Given the description of an element on the screen output the (x, y) to click on. 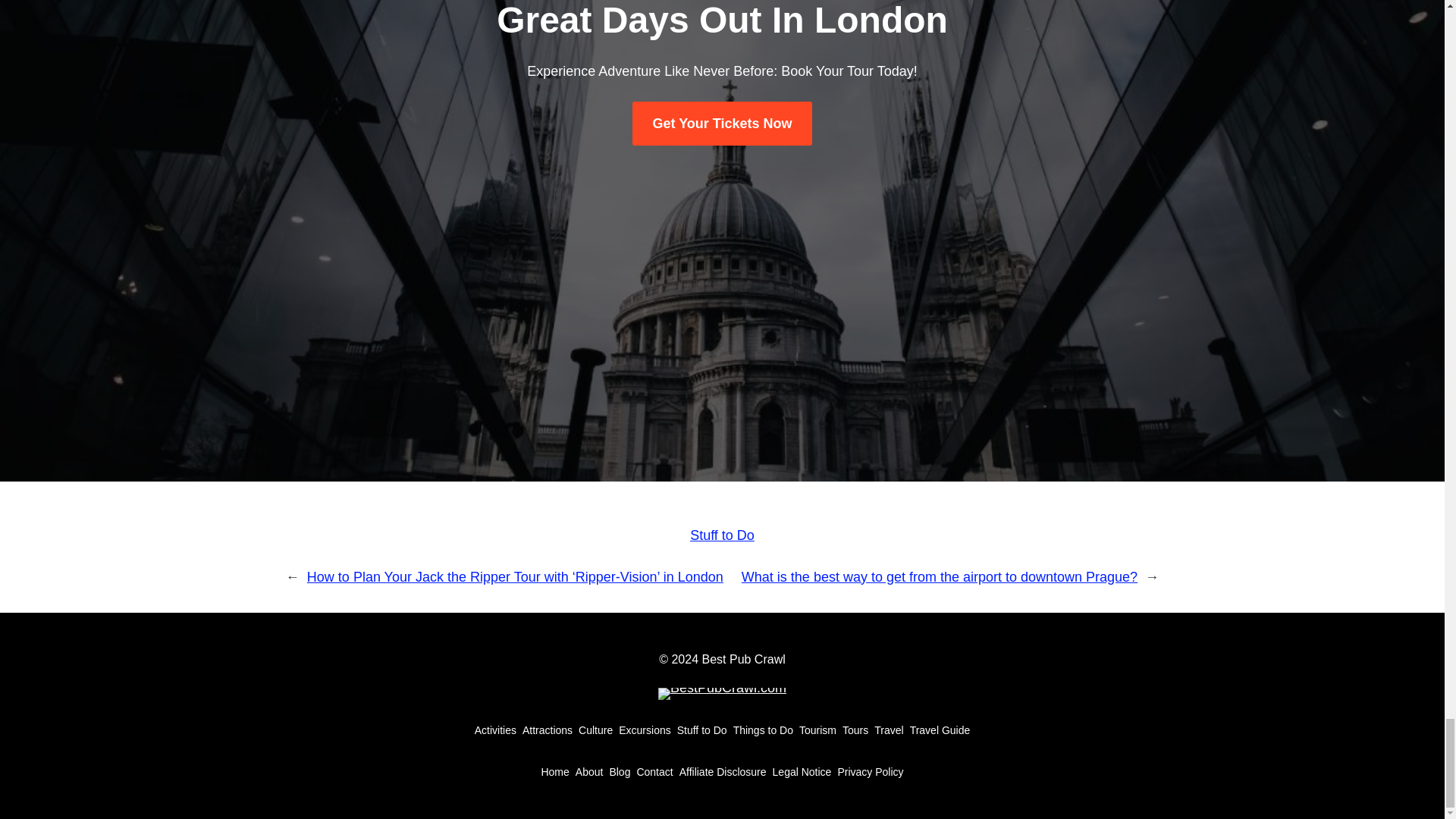
Culture (595, 730)
Stuff to Do (701, 730)
Excursions (643, 730)
Attractions (547, 730)
Activities (495, 730)
Get Your Tickets Now (720, 123)
Stuff to Do (722, 534)
